Given the description of an element on the screen output the (x, y) to click on. 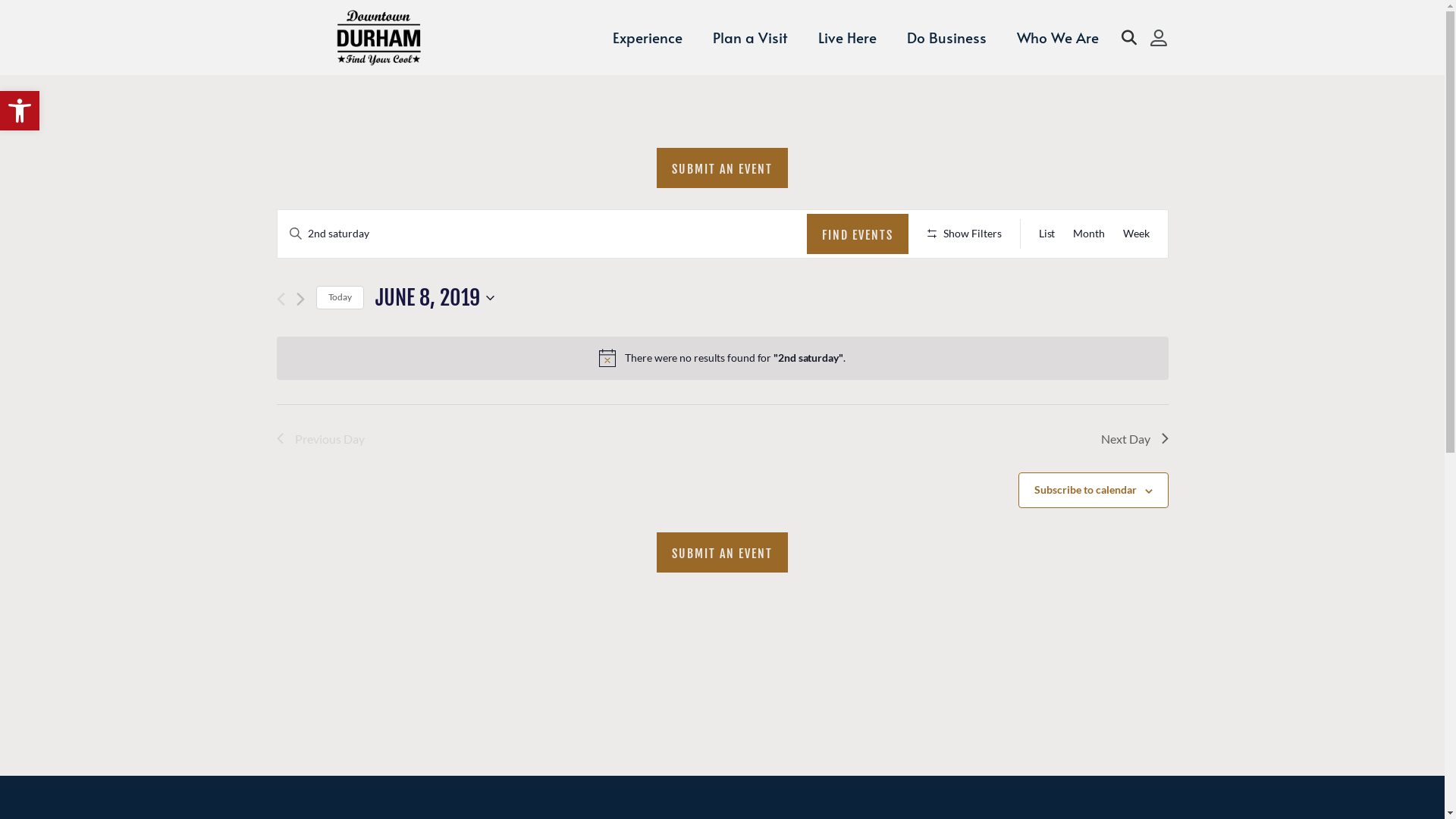
Week Element type: text (1136, 233)
Open toolbar
Accessibility Tools Element type: text (19, 110)
Previous day Element type: hover (280, 298)
SUBMIT AN EVENT Element type: text (721, 167)
JUNE 8, 2019 Element type: text (434, 297)
Live Here Element type: text (846, 37)
Today Element type: text (339, 297)
Who We Are Element type: text (1057, 37)
Experience Element type: text (647, 37)
Show Filters Element type: text (963, 233)
Do Business Element type: text (946, 37)
SUBMIT AN EVENT Element type: text (721, 552)
Subscribe to calendar Element type: text (1085, 489)
Month Element type: text (1088, 233)
Next Day Element type: text (1134, 438)
FIND EVENTS Element type: text (857, 233)
List Element type: text (1046, 233)
Previous Day Element type: text (320, 438)
Next day Element type: hover (299, 298)
Plan a Visit Element type: text (750, 37)
